Given the description of an element on the screen output the (x, y) to click on. 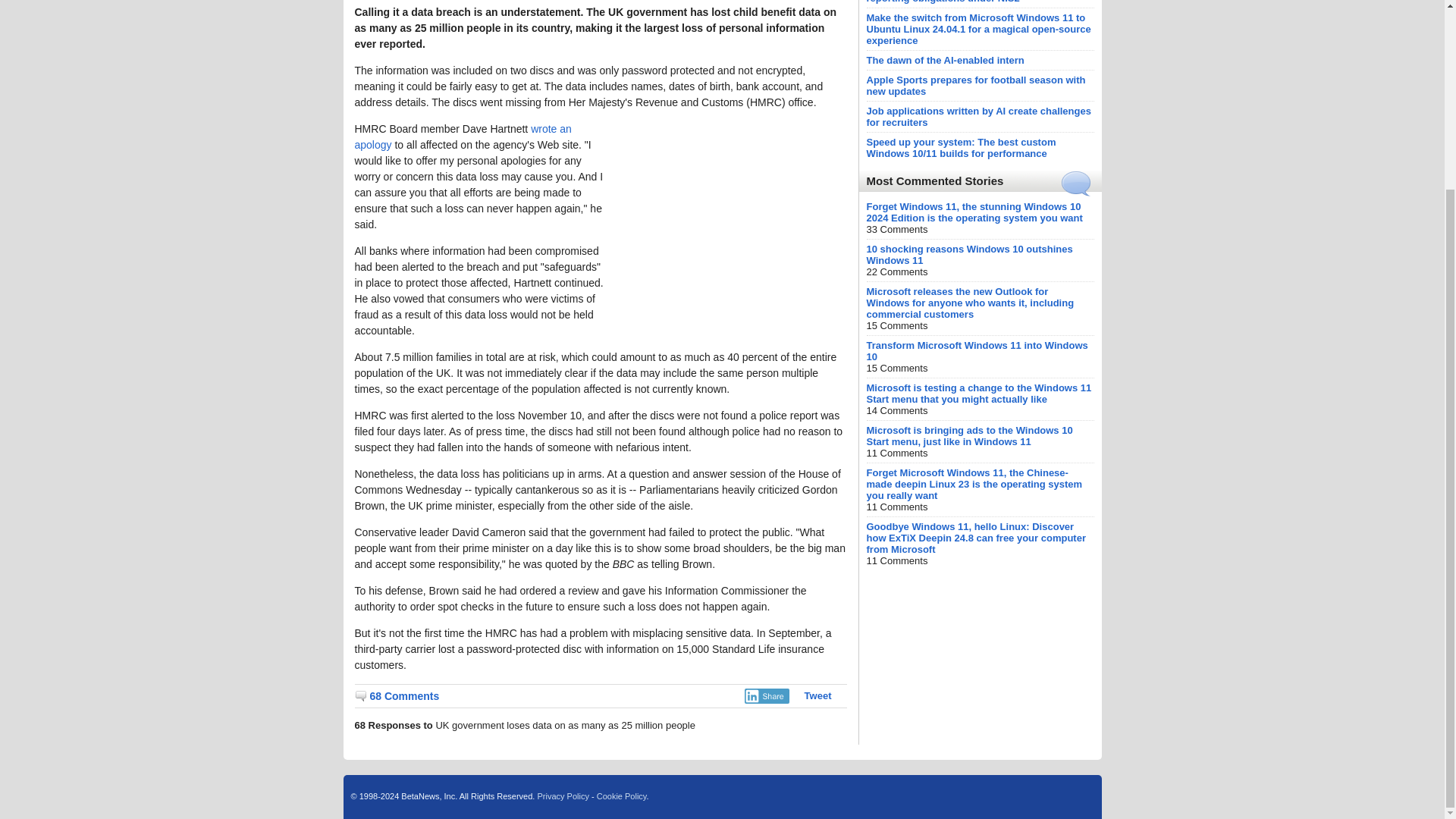
wrote an apology (463, 136)
Share (766, 695)
Advertisement (731, 216)
Apple Sports prepares for football season with new updates (975, 85)
